Given the description of an element on the screen output the (x, y) to click on. 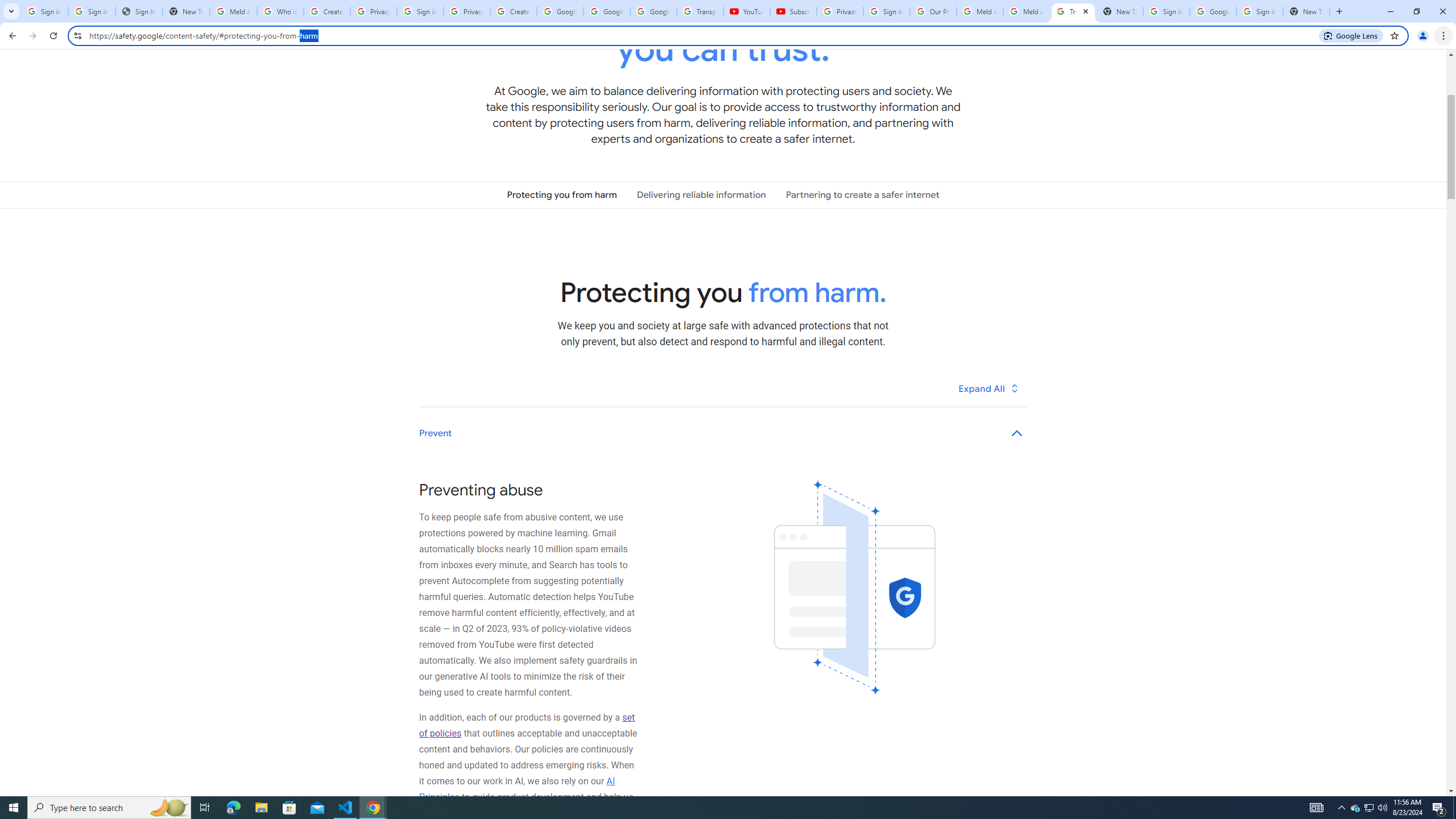
AI Principles (517, 788)
Prevent (723, 433)
Create your Google Account (512, 11)
Partnering to create a safer internet (862, 194)
Delivering reliable information (700, 194)
New Tab (1306, 11)
set of policies (526, 724)
